Given the description of an element on the screen output the (x, y) to click on. 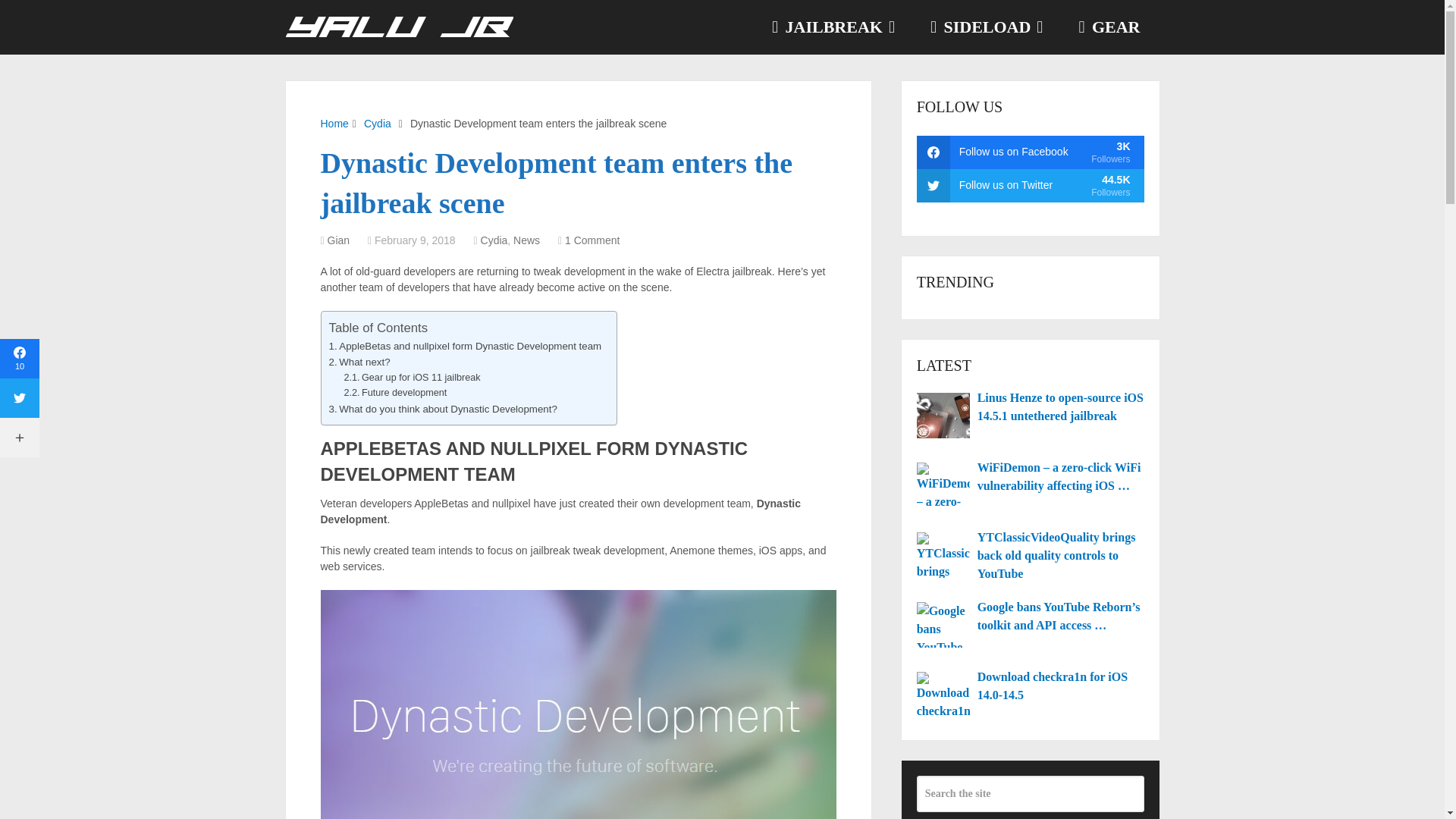
View all posts in Cydia (494, 240)
Cydia (377, 123)
SIDELOAD (985, 27)
What next? (359, 361)
What next? (359, 361)
Home (333, 123)
Future development (394, 392)
What do you think about Dynastic Development? (443, 408)
Gian (338, 240)
View all posts in News (526, 240)
AppleBetas and nullpixel form Dynastic Development team (465, 345)
News (526, 240)
Gear up for iOS 11 jailbreak (411, 377)
1 Comment (592, 240)
Future development (394, 392)
